Given the description of an element on the screen output the (x, y) to click on. 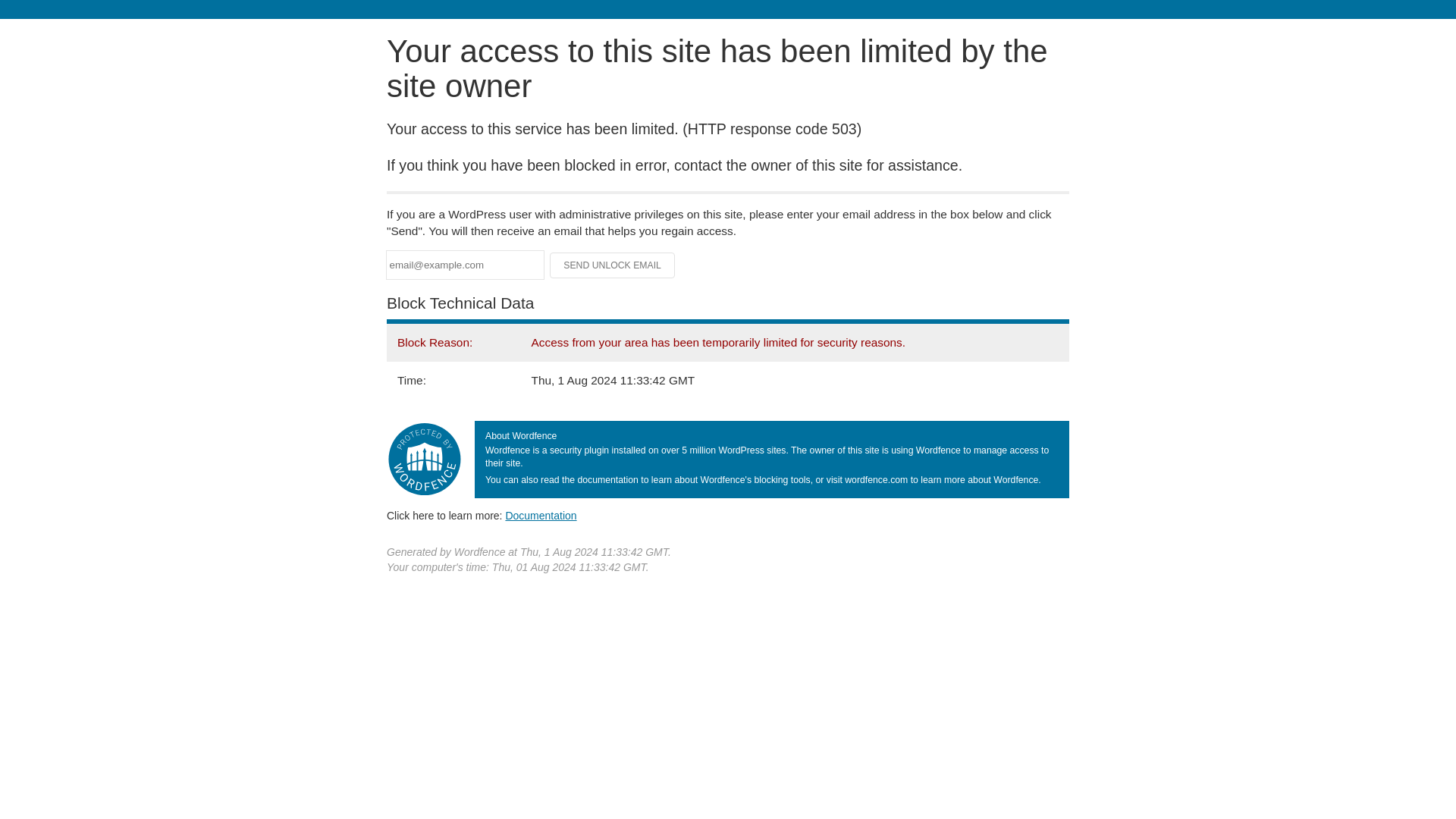
Send Unlock Email (612, 265)
Documentation (540, 515)
Send Unlock Email (612, 265)
